Given the description of an element on the screen output the (x, y) to click on. 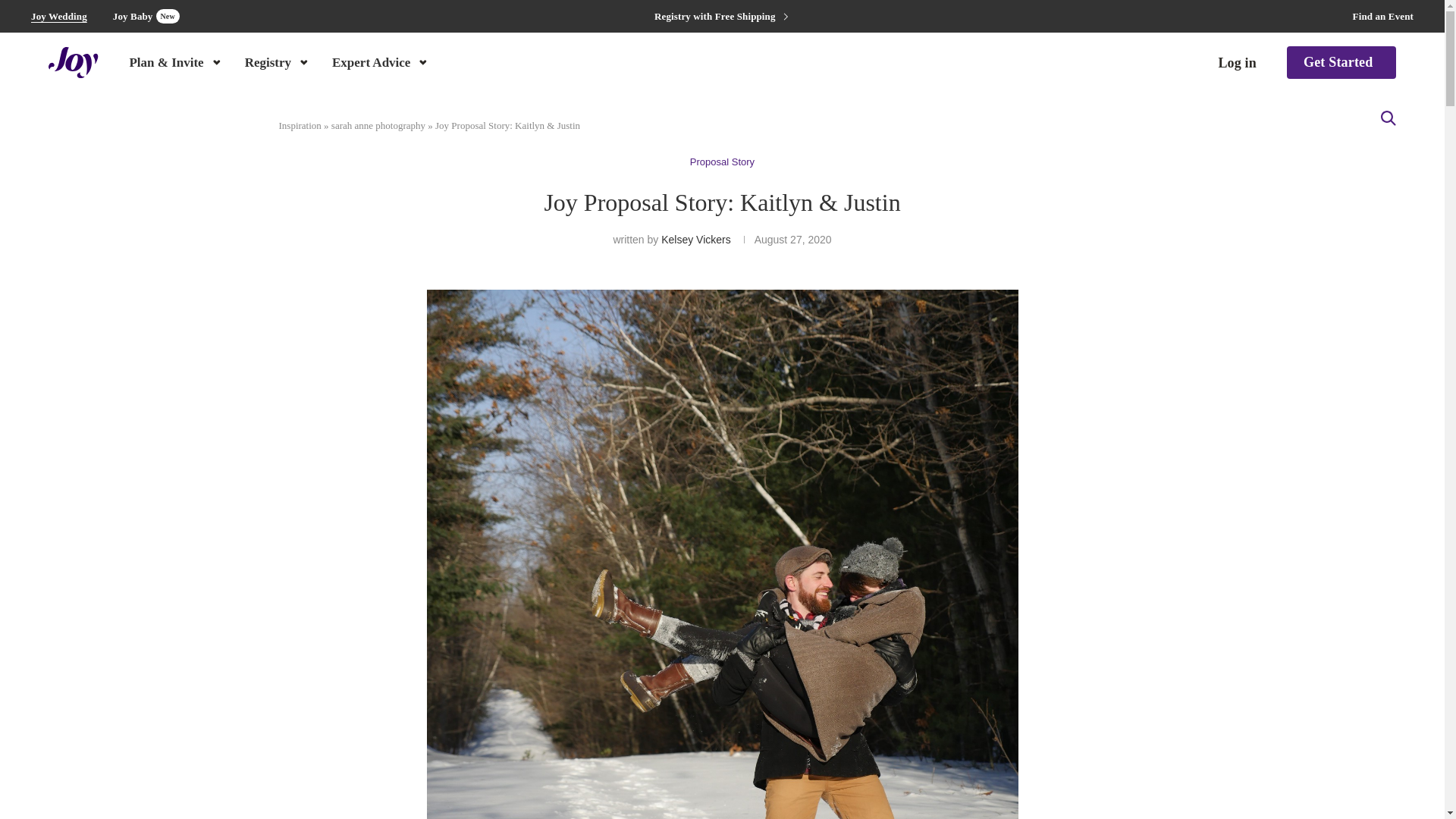
Expert Advice (146, 16)
Joy Wedding (380, 61)
Find an Event (58, 16)
Log in (1382, 16)
Registry (1236, 62)
Get Started (277, 61)
Find an Event (1341, 61)
